Given the description of an element on the screen output the (x, y) to click on. 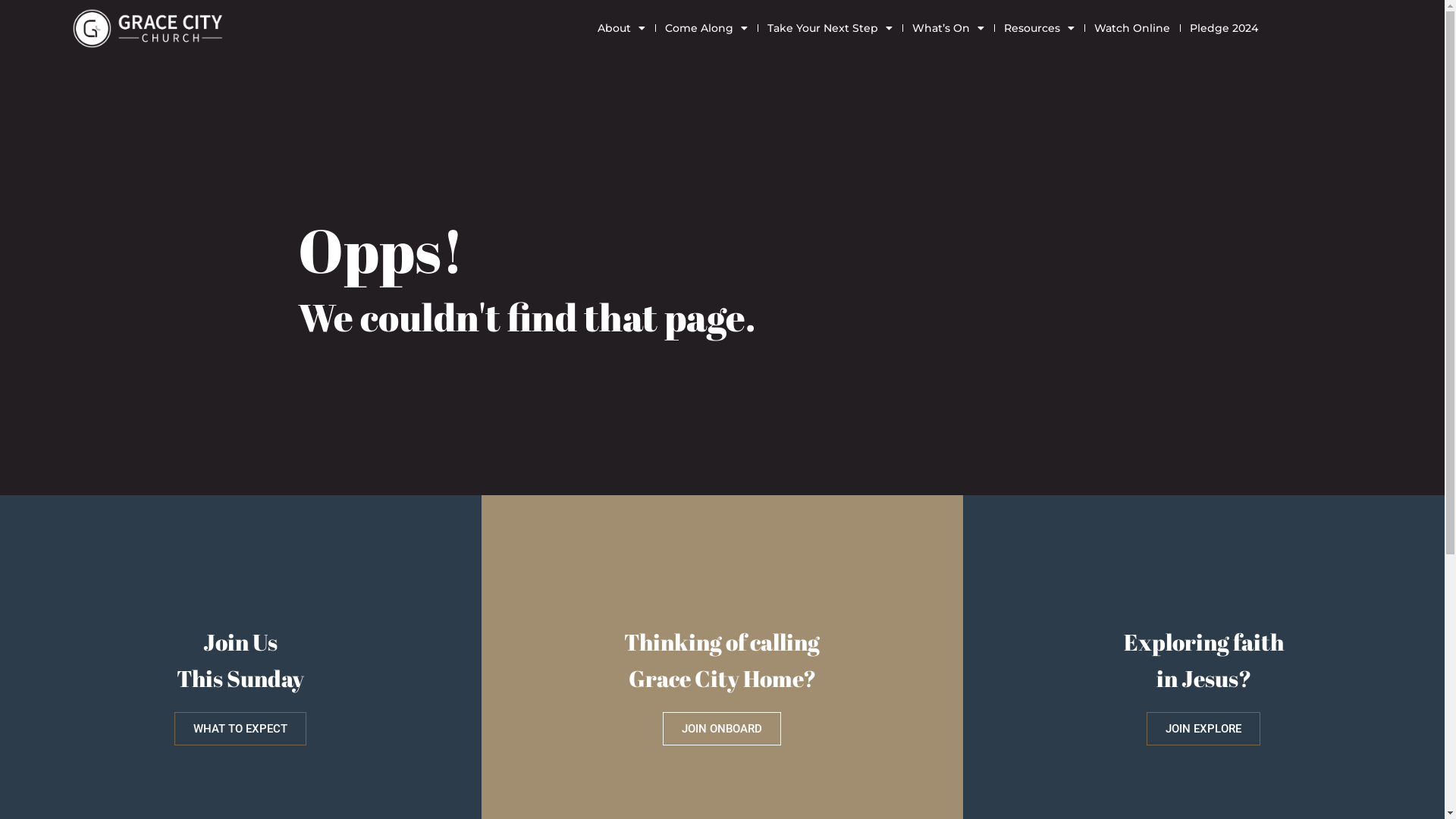
JOIN ONBOARD Element type: text (721, 728)
WHAT TO EXPECT Element type: text (240, 728)
Come Along Element type: text (706, 28)
JOIN EXPLORE Element type: text (1203, 728)
About Element type: text (620, 28)
Take Your Next Step Element type: text (829, 28)
Resources Element type: text (1039, 28)
Pledge 2024 Element type: text (1223, 28)
Watch Online Element type: text (1131, 28)
